Given the description of an element on the screen output the (x, y) to click on. 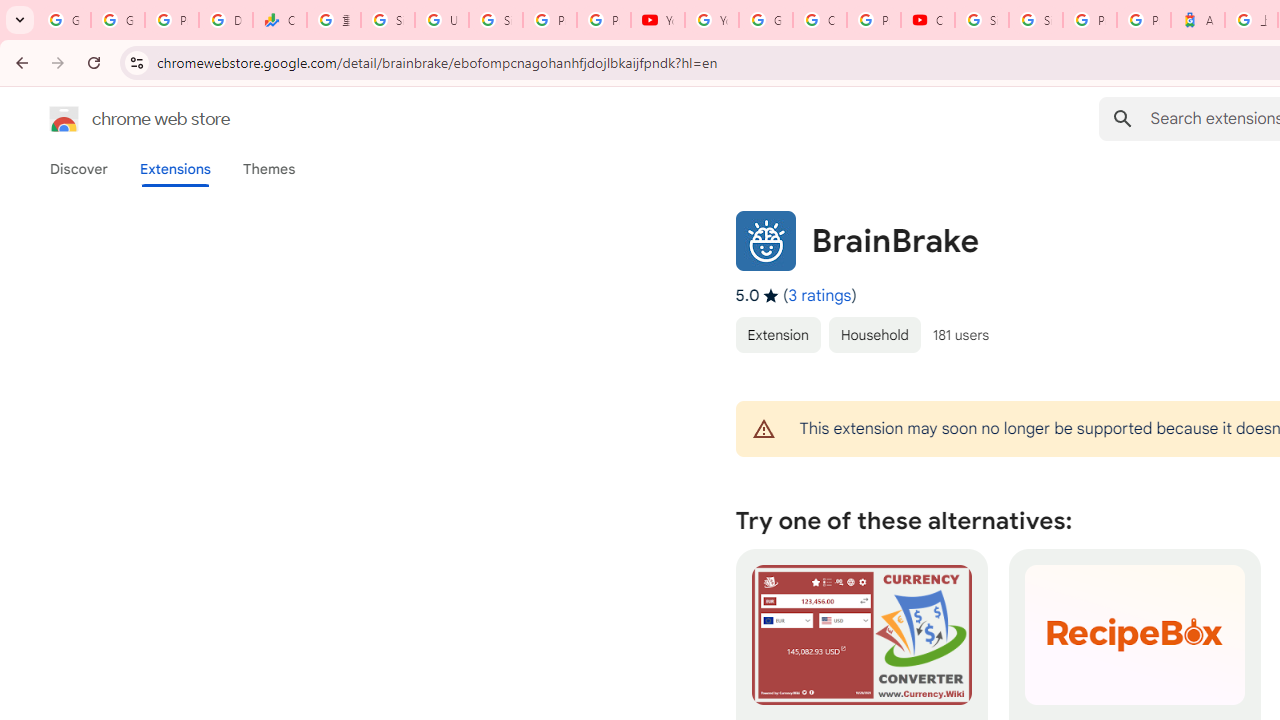
Create your Google Account (819, 20)
Extension (777, 334)
3 ratings (820, 295)
Google Workspace Admin Community (63, 20)
Discover (79, 169)
Chrome Web Store logo chrome web store (118, 118)
